Given the description of an element on the screen output the (x, y) to click on. 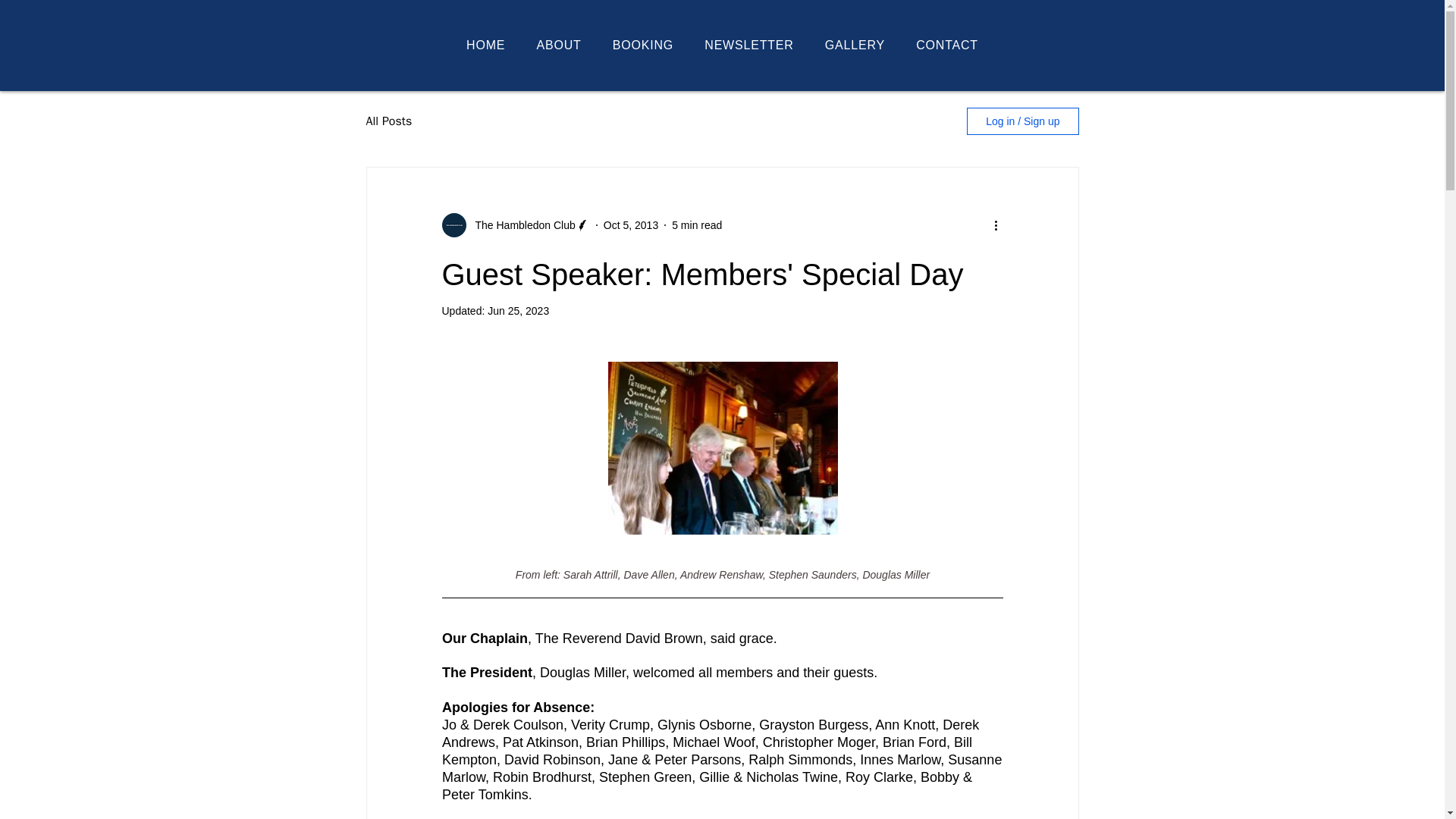
GALLERY (854, 45)
Jun 25, 2023 (517, 310)
The Hambledon Club (520, 224)
ABOUT (559, 45)
CONTACT (947, 45)
Oct 5, 2013 (631, 224)
5 min read (696, 224)
HOME (484, 45)
BOOKING (642, 45)
All Posts (388, 121)
NEWSLETTER (749, 45)
